Given the description of an element on the screen output the (x, y) to click on. 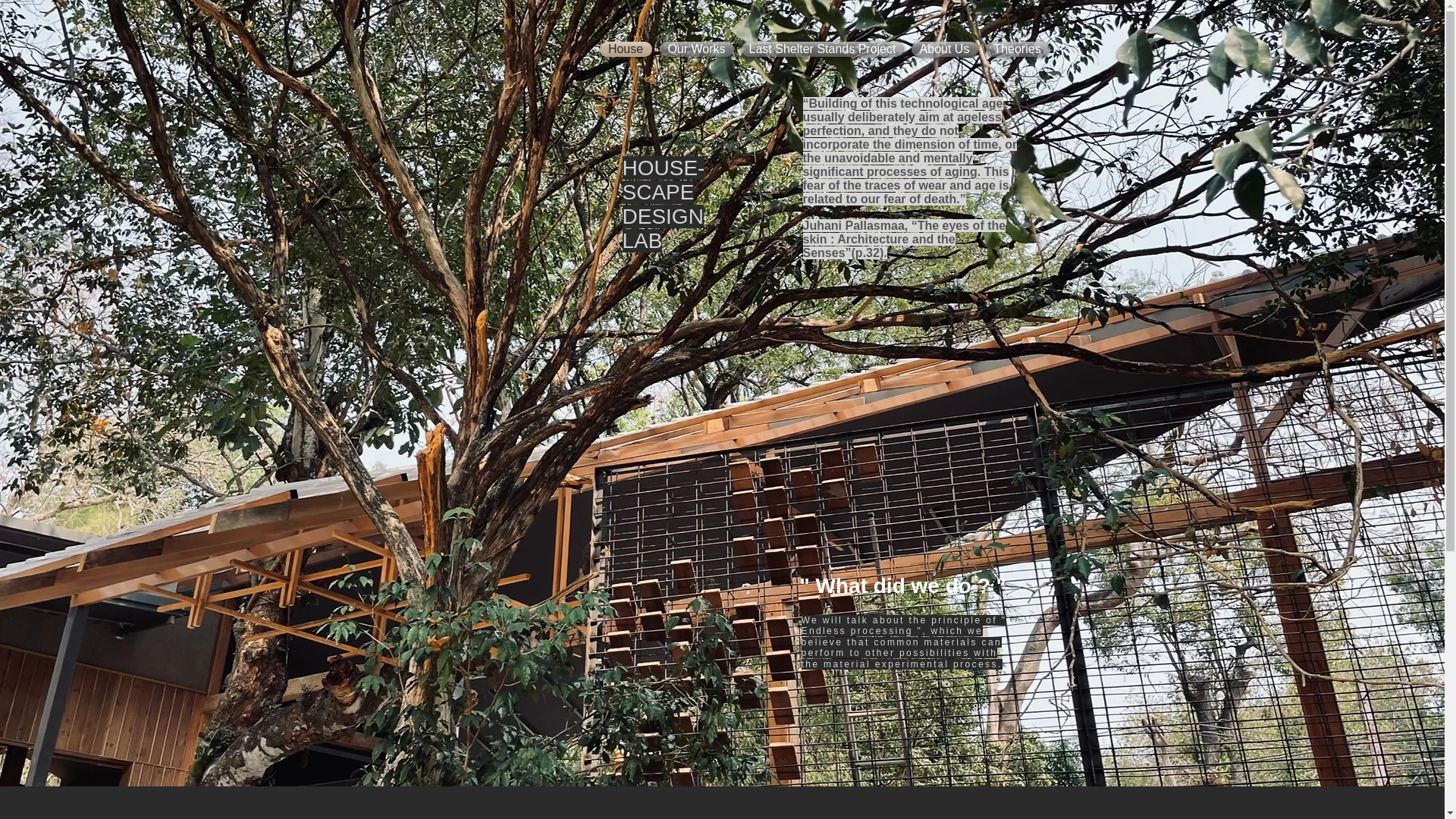
About Us (944, 48)
Theories (1014, 48)
House (626, 48)
Last Shelter Stands Project (821, 48)
Our Works (695, 48)
